Given the description of an element on the screen output the (x, y) to click on. 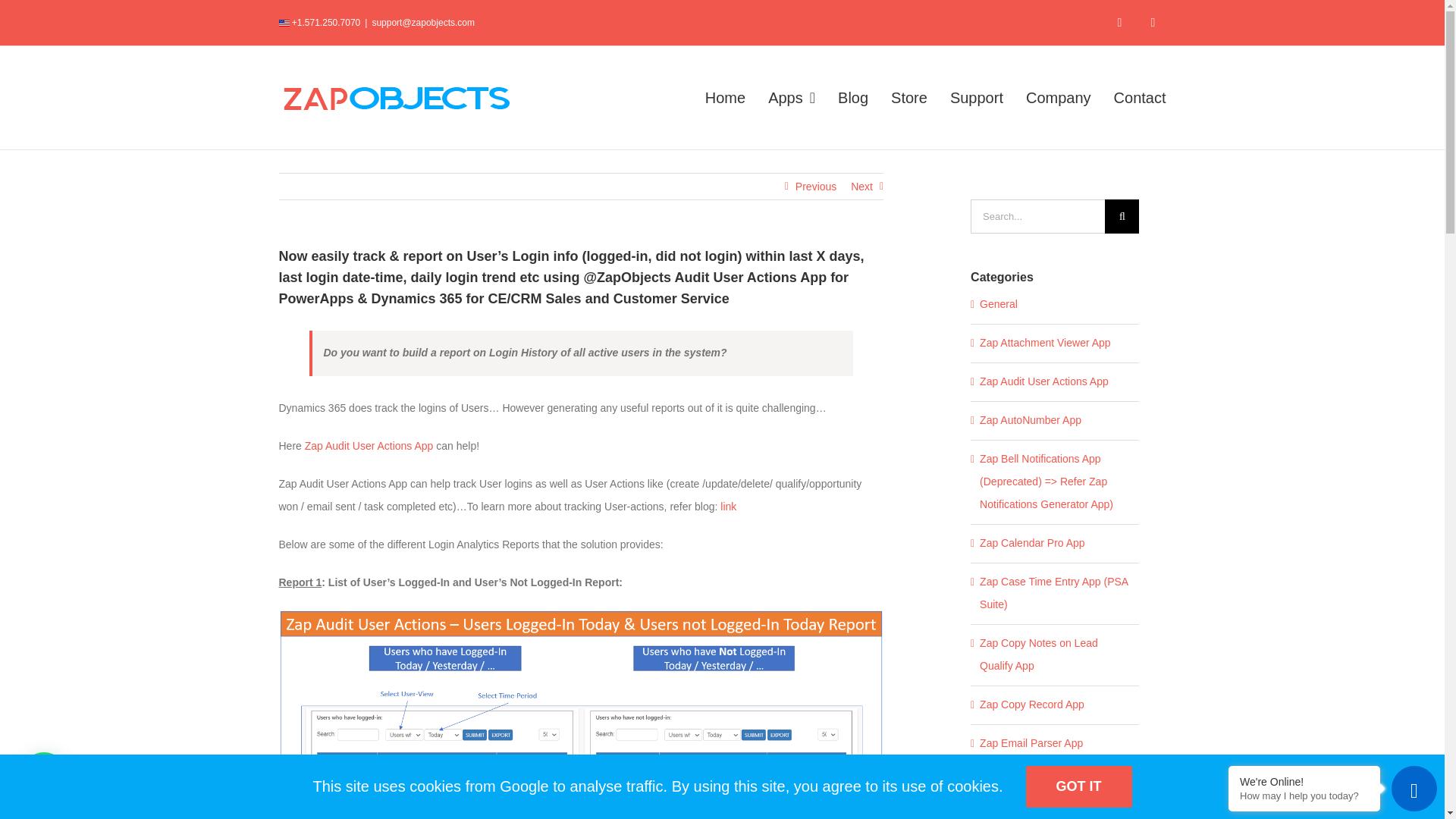
Contact (1139, 96)
Blog (852, 96)
Home (724, 96)
Support (976, 96)
Apps (791, 96)
LinkedIn (1153, 22)
Twitter (1119, 22)
Company (1058, 96)
Store (909, 96)
